Given the description of an element on the screen output the (x, y) to click on. 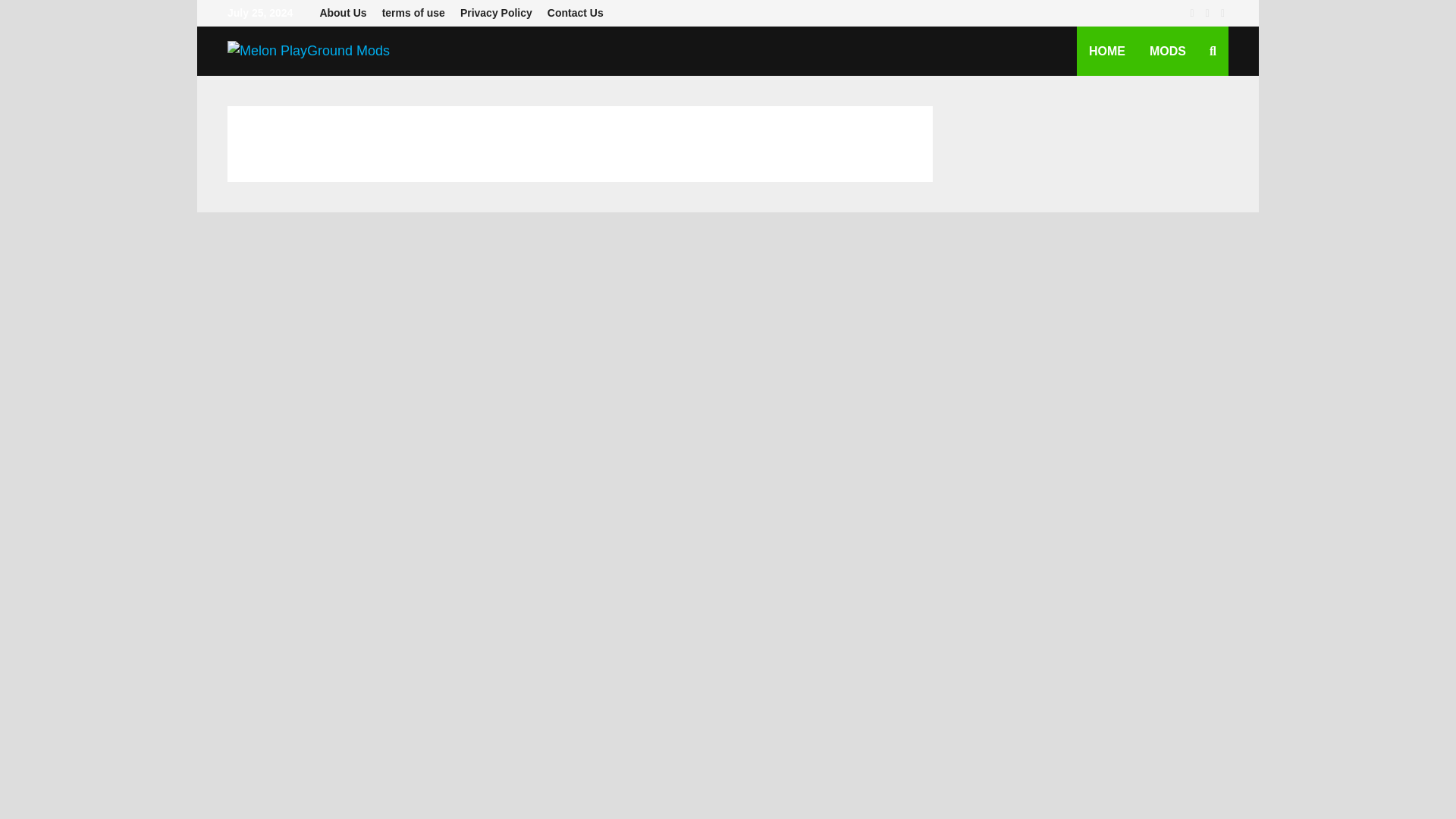
terms of use (413, 13)
HOME (1107, 51)
Privacy Policy (496, 13)
Youtube (1194, 11)
About Us (342, 13)
Contact Us (575, 13)
MODS (1167, 51)
Twitter (1209, 11)
